Given the description of an element on the screen output the (x, y) to click on. 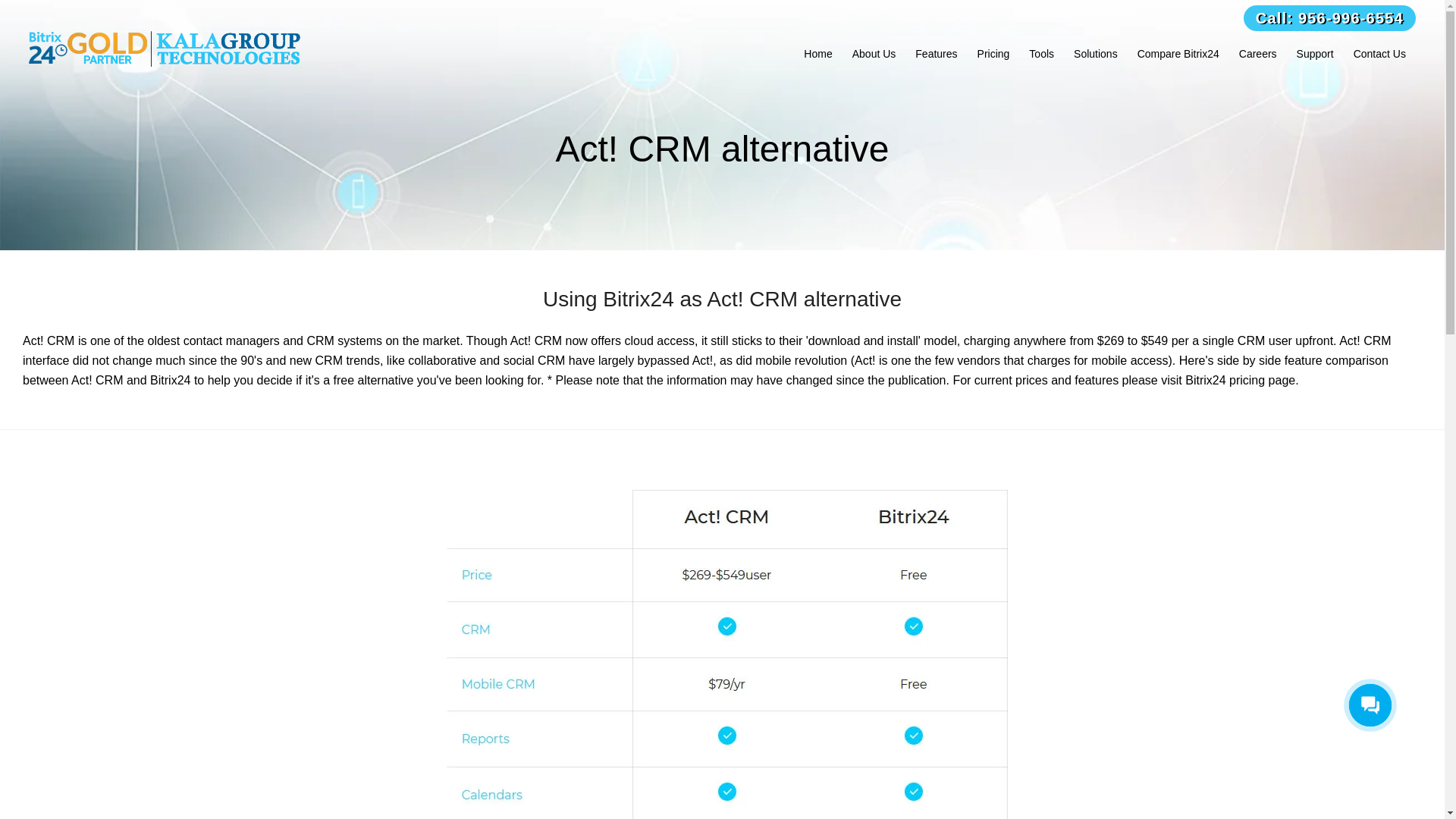
Careers (1257, 53)
Support (1315, 53)
Compare Bitrix24 (1177, 53)
Pricing (994, 53)
Solutions (1095, 53)
Contact Us (1379, 53)
About Us (874, 53)
Features (935, 53)
Home (817, 53)
Tools (1041, 53)
